Given the description of an element on the screen output the (x, y) to click on. 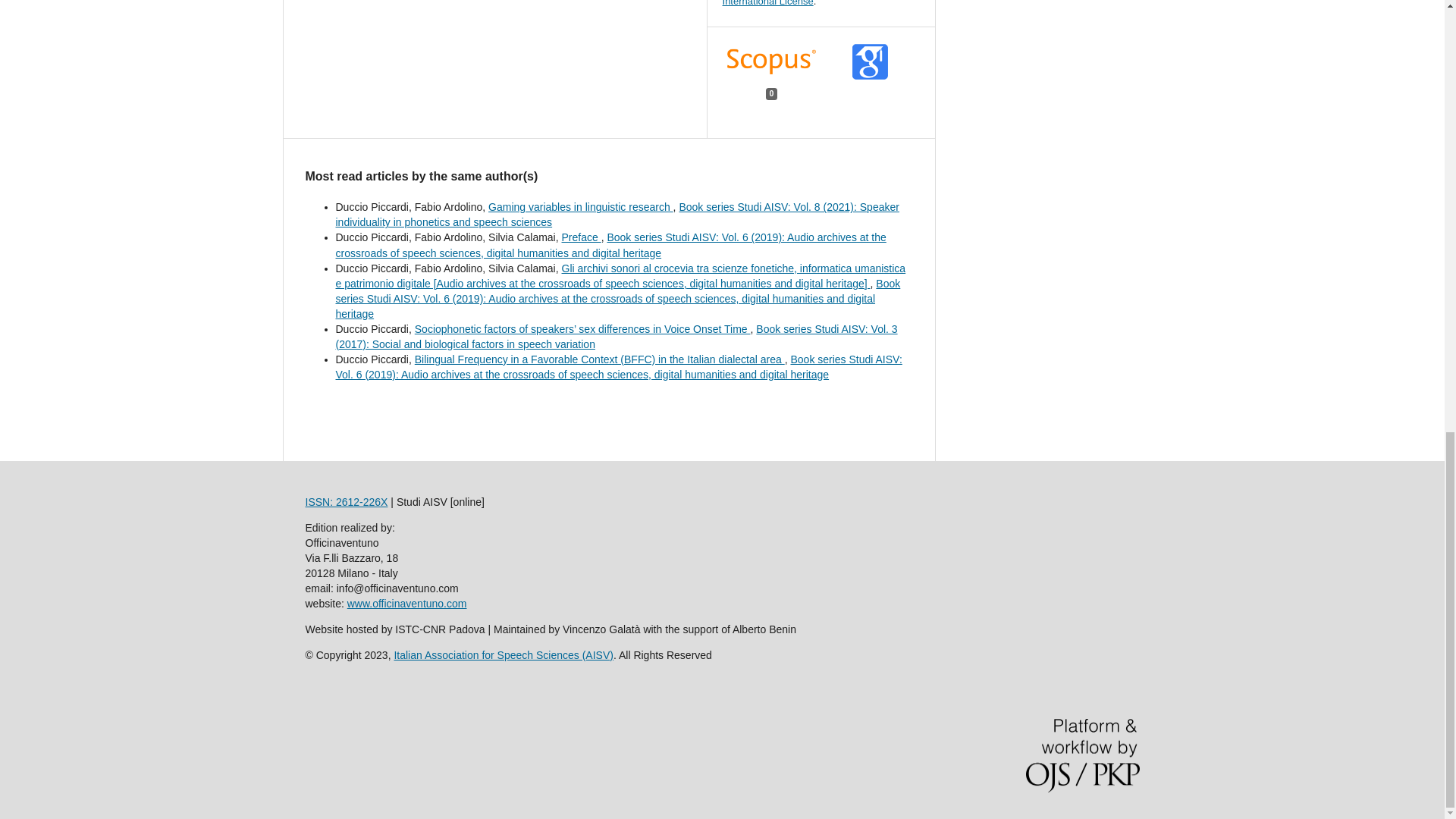
Preface (581, 236)
Gaming variables in linguistic research (579, 206)
